Given the description of an element on the screen output the (x, y) to click on. 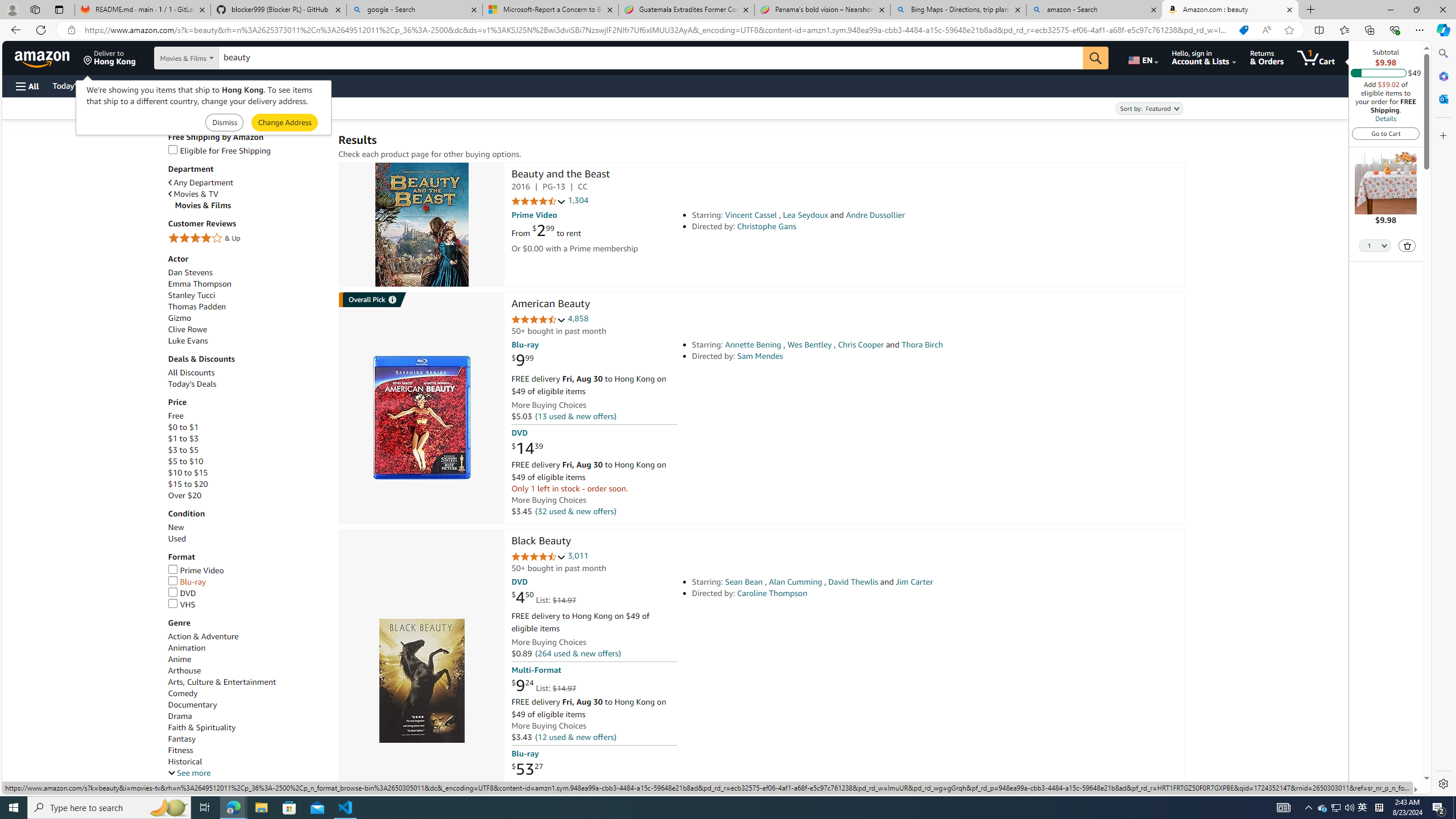
Luke Evans (247, 340)
American Beauty (550, 304)
4 Stars & Up (247, 238)
Beauty and the Beast (560, 174)
Open Menu (26, 86)
Anime (247, 659)
Stanley Tucci (247, 295)
$3 to $5 (183, 449)
Sean Bean (743, 581)
4.6 out of 5 stars (538, 319)
Blu-ray (247, 582)
Jim Carter (914, 581)
